Given the description of an element on the screen output the (x, y) to click on. 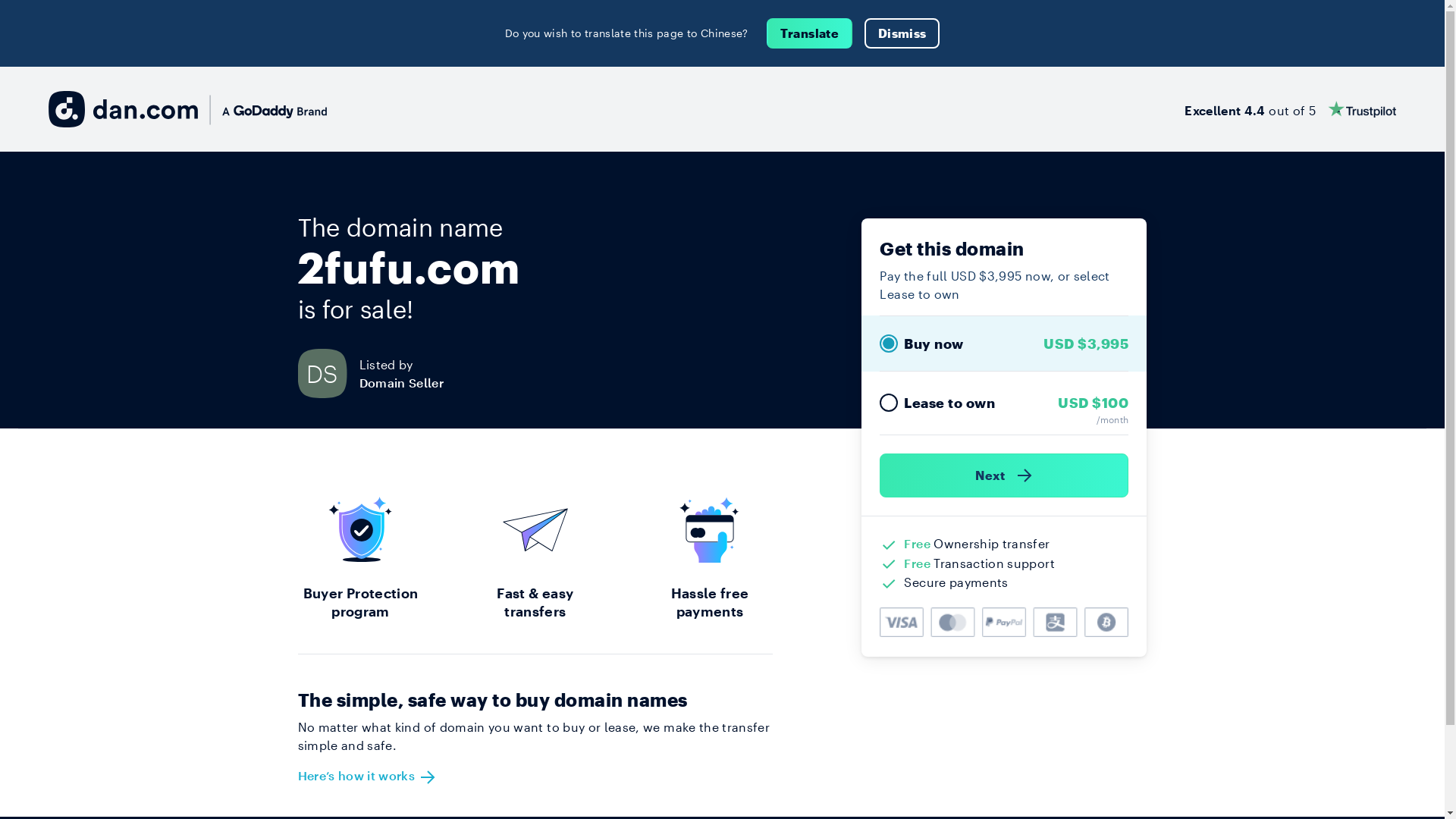
Dismiss Element type: text (901, 33)
Excellent 4.4 out of 5 Element type: text (1290, 109)
Translate Element type: text (809, 33)
Next
) Element type: text (1003, 475)
